Given the description of an element on the screen output the (x, y) to click on. 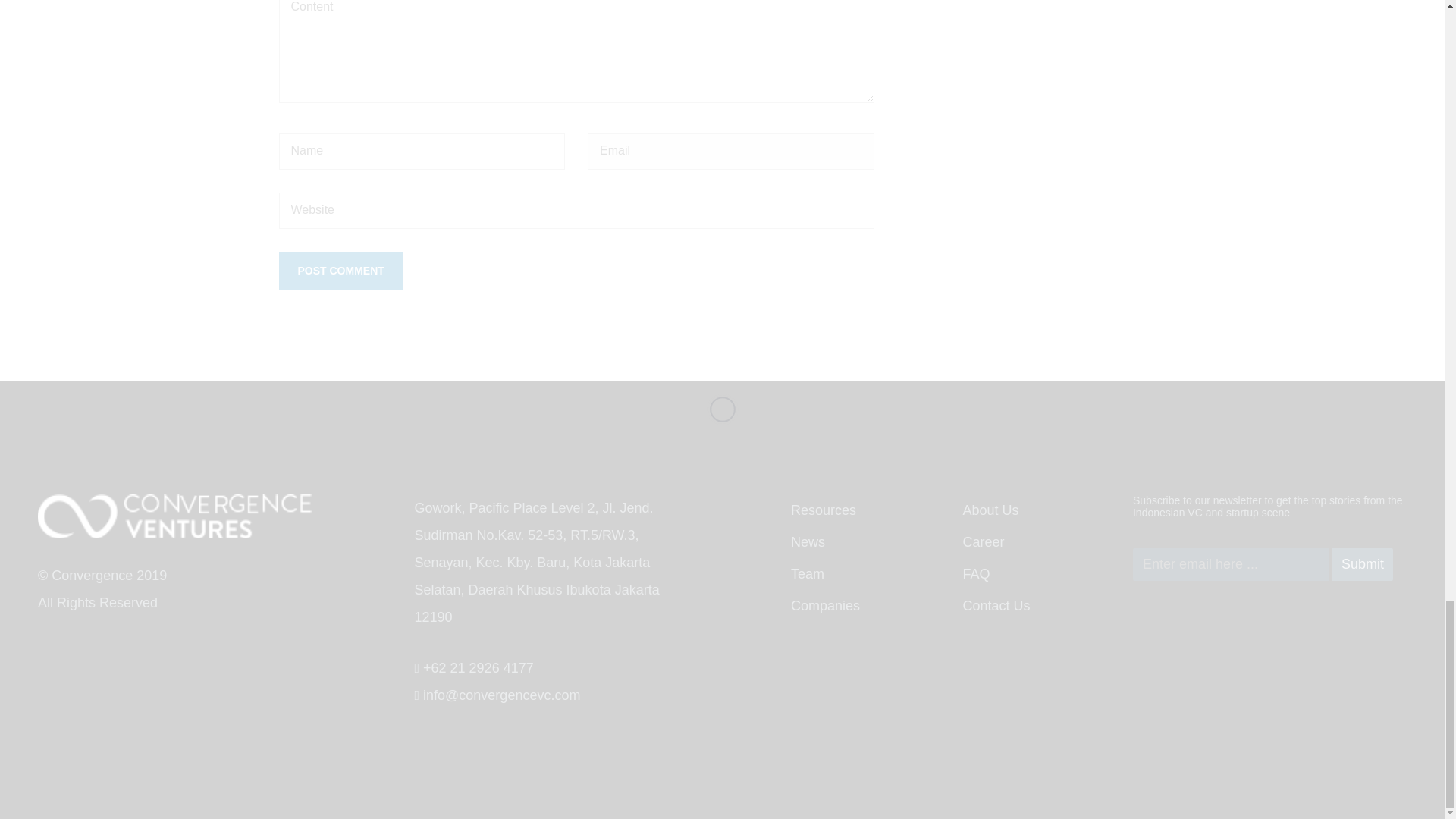
Post Comment (341, 270)
Submit (1362, 563)
Post Comment (341, 270)
